Given the description of an element on the screen output the (x, y) to click on. 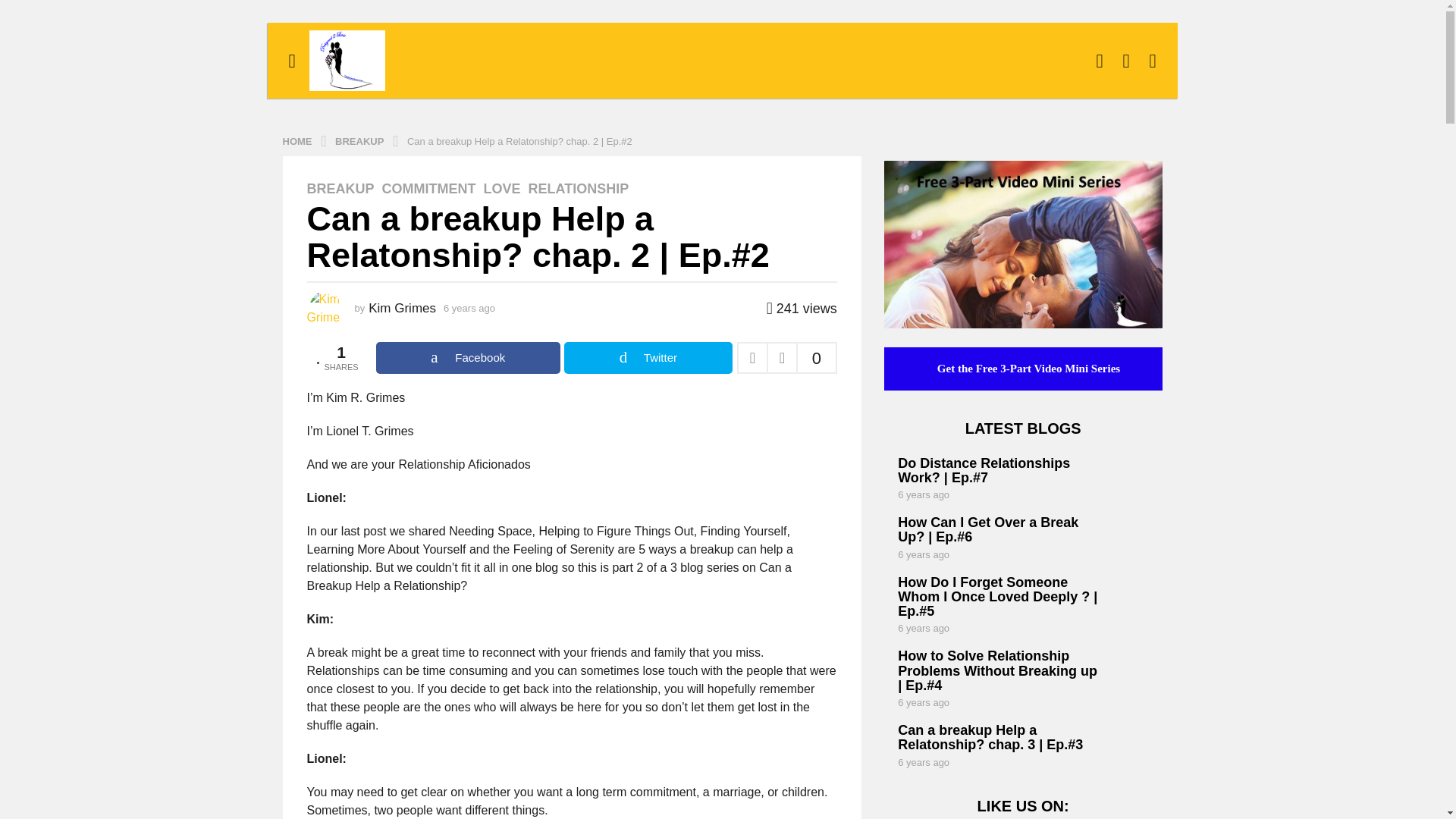
BREAKUP (360, 140)
COMMITMENT (428, 188)
BREAKUP (339, 188)
HOME (298, 140)
LOVE (502, 188)
